Given the description of an element on the screen output the (x, y) to click on. 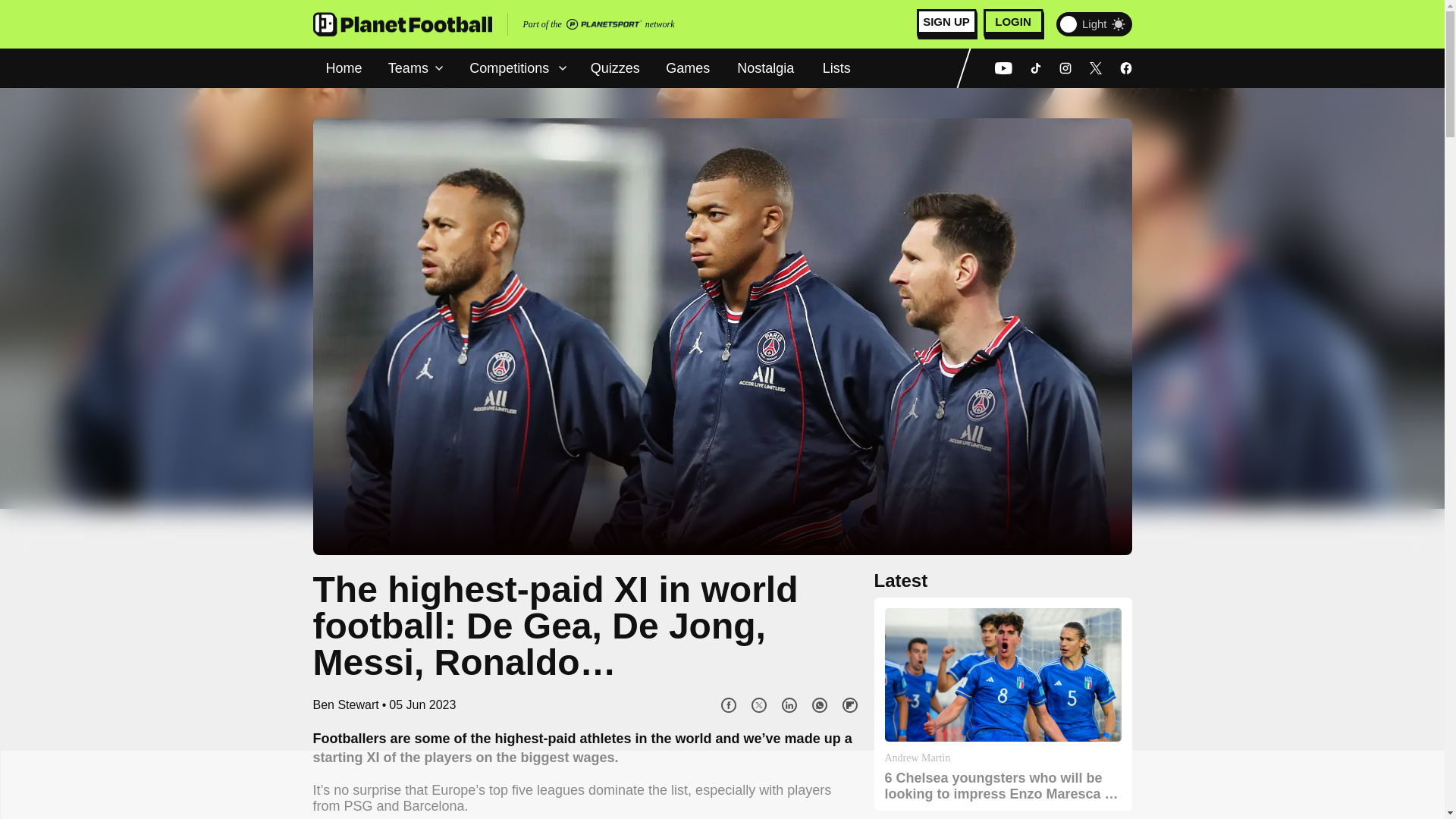
3rd party ad content (721, 785)
SIGN UP (945, 24)
LOGIN (1012, 24)
